Given the description of an element on the screen output the (x, y) to click on. 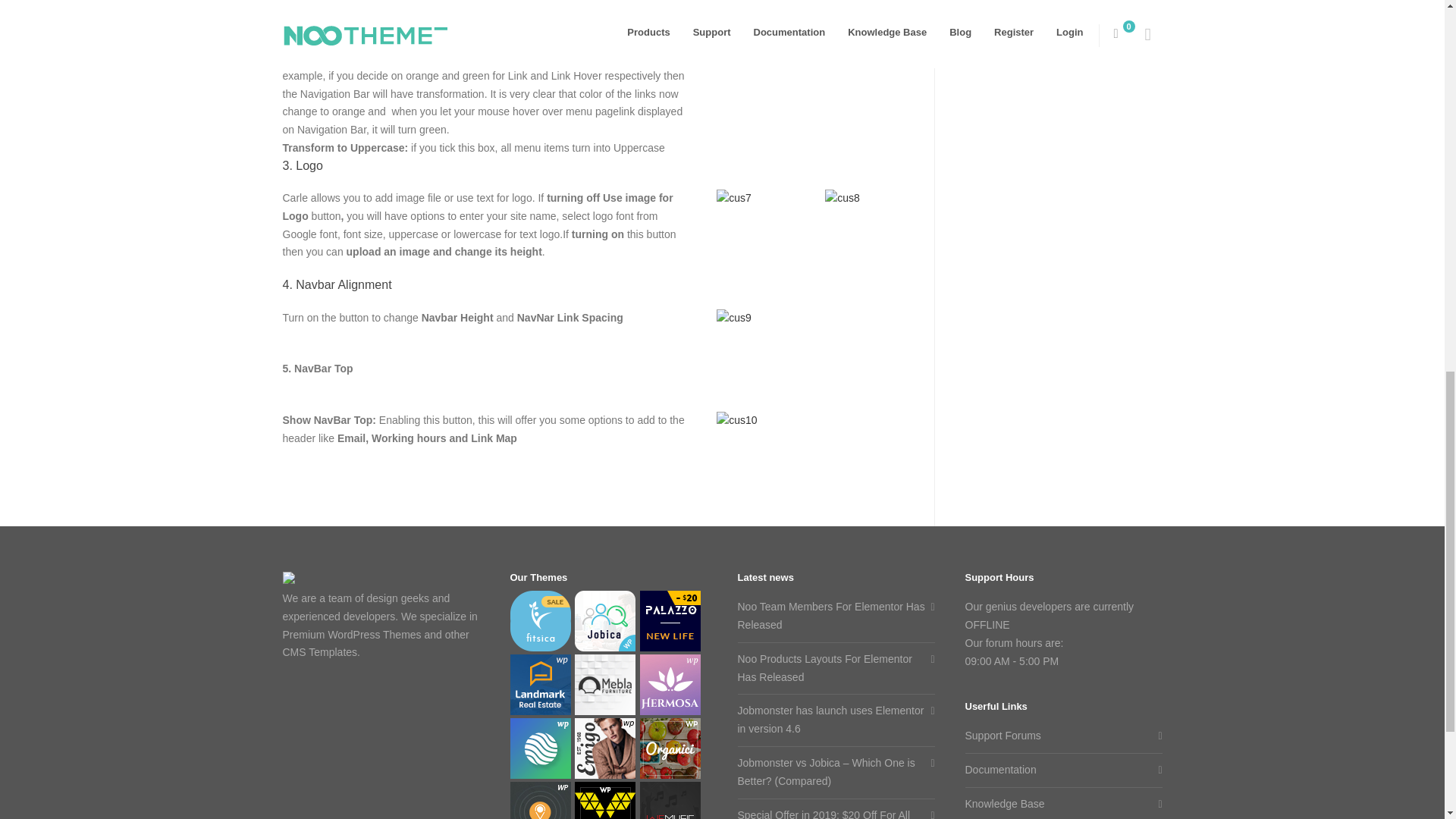
Fitsica - Yoga Jobboard WordPress Theme (539, 623)
Jobica - Elementor IT Job Board WordPress Theme (604, 623)
Landmark - Real Estate WordPress Theme (539, 687)
iVent - Multipurpose Event WordPress Theme (539, 800)
Mebla - Multi Concept WooCommerce WordPress Theme (604, 687)
Visionary - Creative Agency Multipurpose WordPress Theme (539, 751)
WeMusic - Music Band Event WordPress Theme (670, 800)
Palazzo - Real Estate WordPress Theme (670, 623)
Emigo - Fashion WooCommerce WordPress Theme (604, 751)
